Given the description of an element on the screen output the (x, y) to click on. 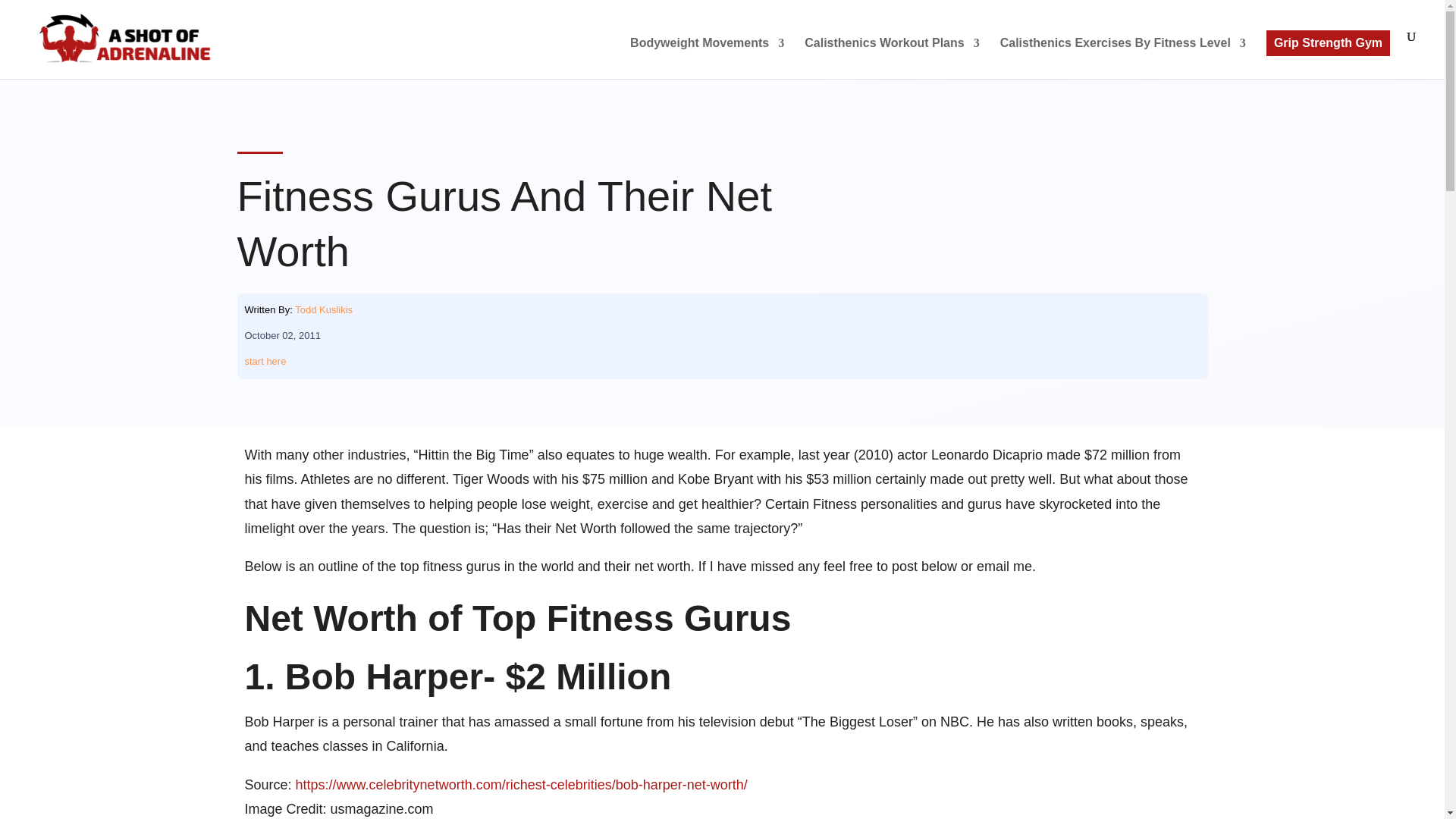
Calisthenics Exercises By Fitness Level (1123, 57)
Calisthenics Workout Plans (891, 57)
Grip Strength Gym (1328, 43)
Bodyweight Movements (707, 57)
